Given the description of an element on the screen output the (x, y) to click on. 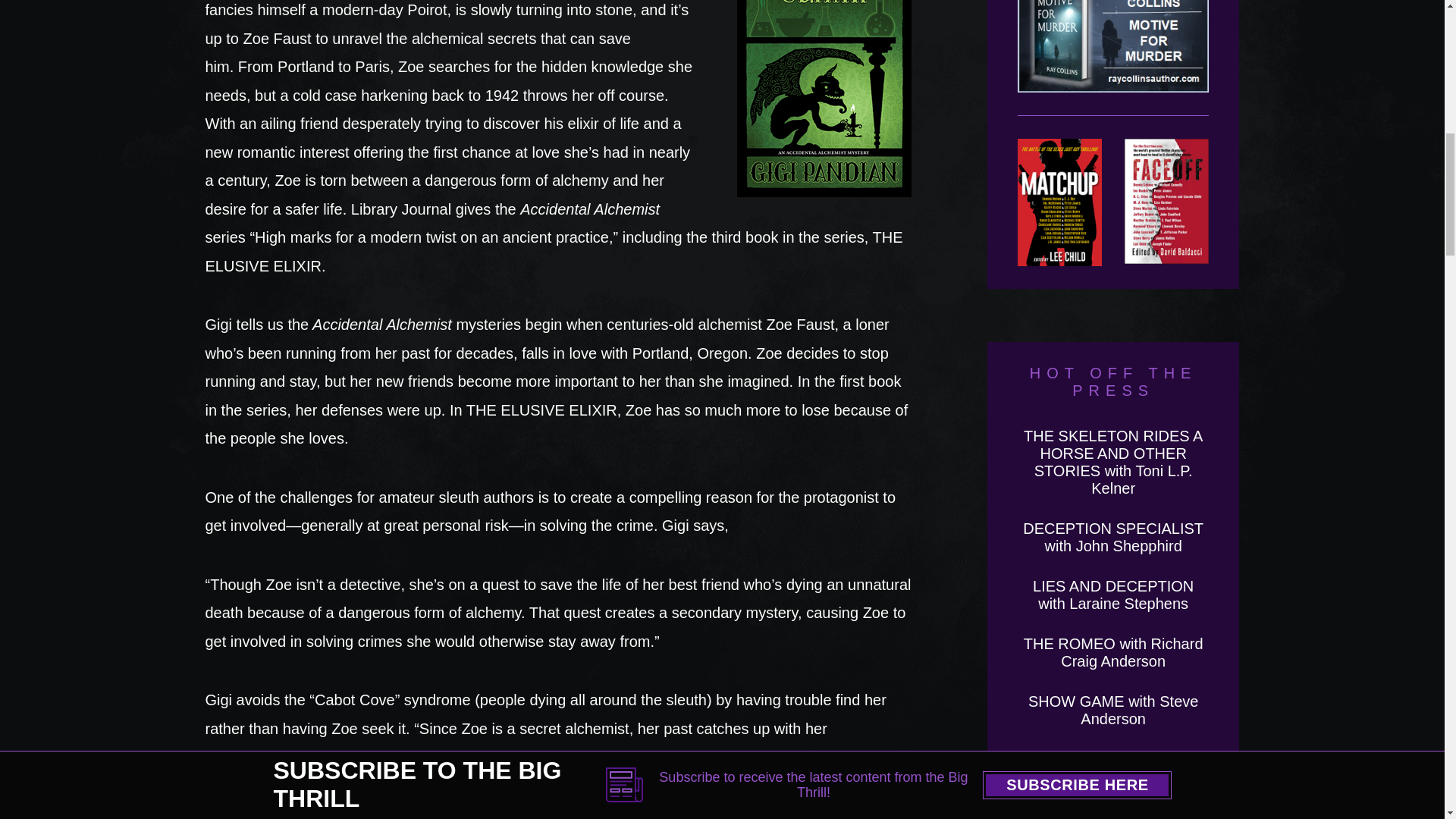
DECEPTION SPECIALIST with John Shepphird (1113, 537)
MATCH UP! In Stores Now! (1059, 202)
THE ROMEO with Richard Craig Anderson (1113, 652)
FACEOFF! In Stores Now! (1166, 202)
SHOW GAME with Steve Anderson (1112, 709)
Margot Douaihy (1113, 799)
LIES AND DECEPTION with Laraine Stephens (1112, 594)
Motive for Murder by Ray Collins (1113, 58)
Esme Addison (1112, 759)
